Given the description of an element on the screen output the (x, y) to click on. 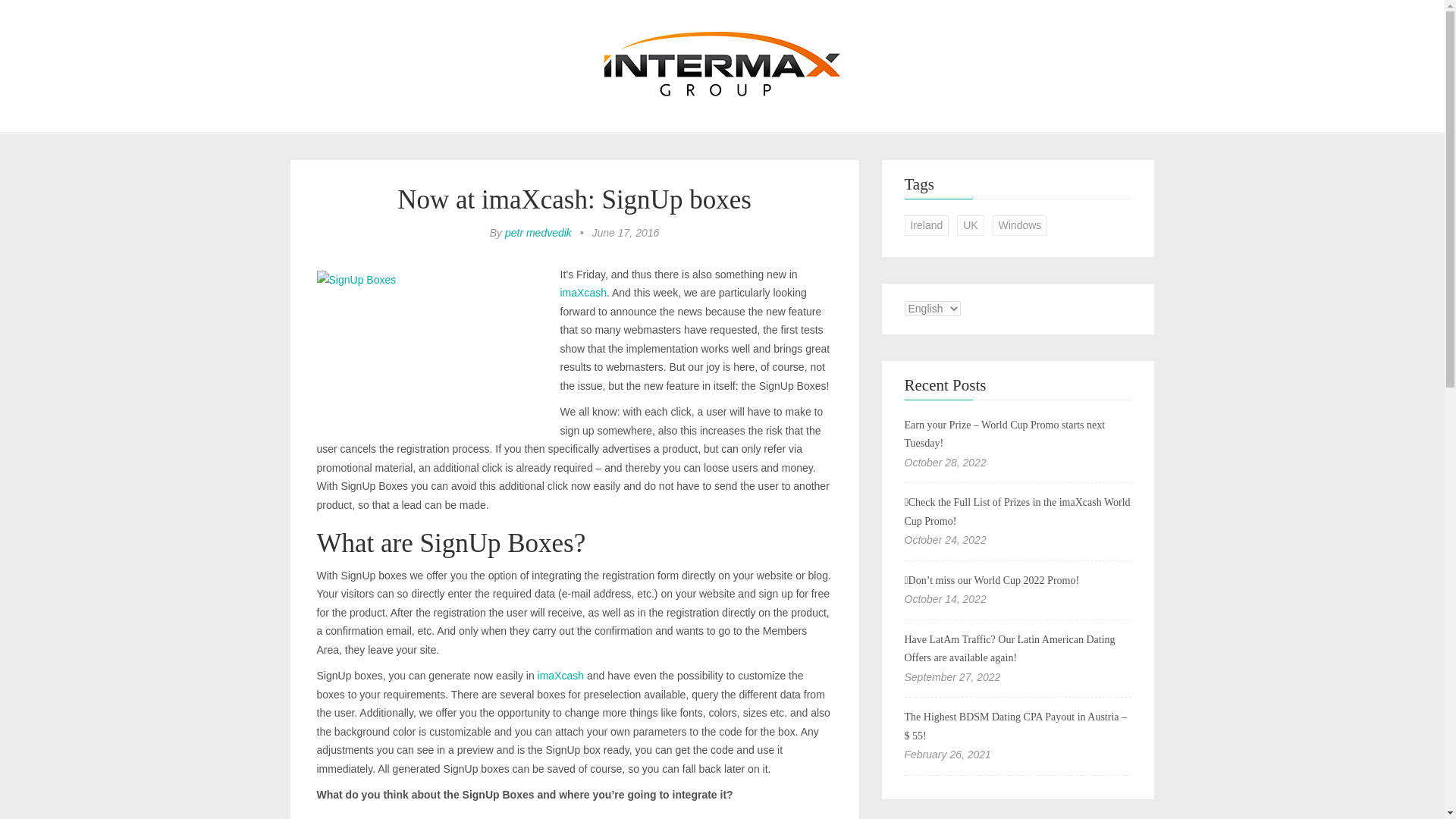
UK (970, 225)
Now at imaXcash: SignUp boxes (574, 199)
Posts by petr medvedik (538, 232)
Ireland (926, 225)
imaXcash (561, 675)
Windows (1020, 225)
petr medvedik (538, 232)
imaXcash (582, 292)
